Given the description of an element on the screen output the (x, y) to click on. 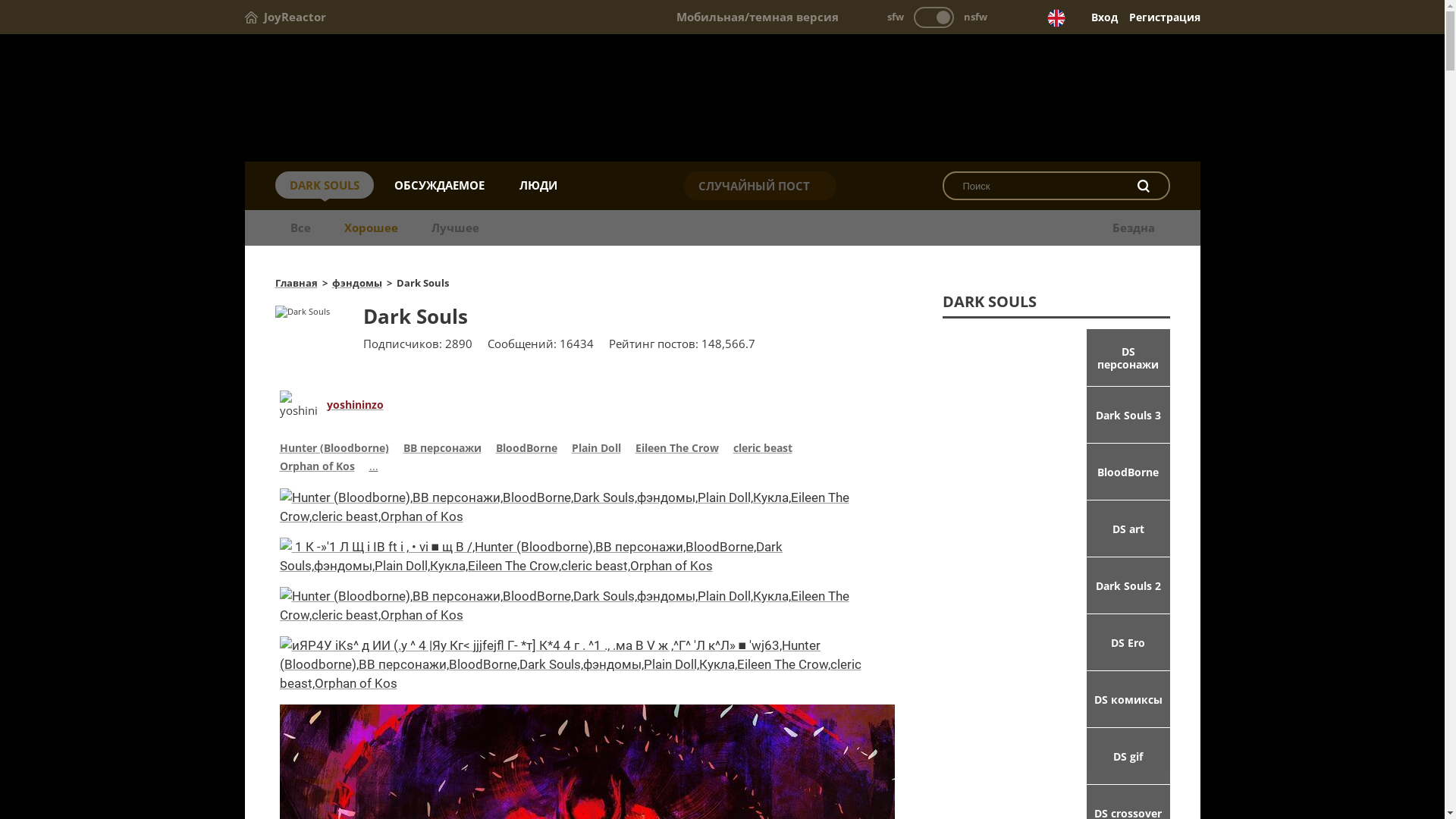
Orphan of Kos Element type: text (316, 467)
BloodBorne Element type: text (1055, 471)
Dark Souls 2 Element type: text (1055, 585)
BloodBorne Element type: text (526, 449)
DARK SOULS Element type: text (323, 184)
English version Element type: hover (1055, 18)
DS gif Element type: text (1055, 756)
Dark Souls 3 Element type: text (1055, 414)
Hunter (Bloodborne) Element type: text (333, 449)
Dark Souls Element type: text (721, 98)
Plain Doll Element type: text (596, 449)
JoyReactor Element type: text (284, 17)
cleric beast Element type: text (761, 449)
DS Ero Element type: text (1055, 642)
DS art Element type: text (1055, 528)
yoshininzo Element type: text (354, 404)
Eileen The Crow Element type: text (676, 449)
